Given the description of an element on the screen output the (x, y) to click on. 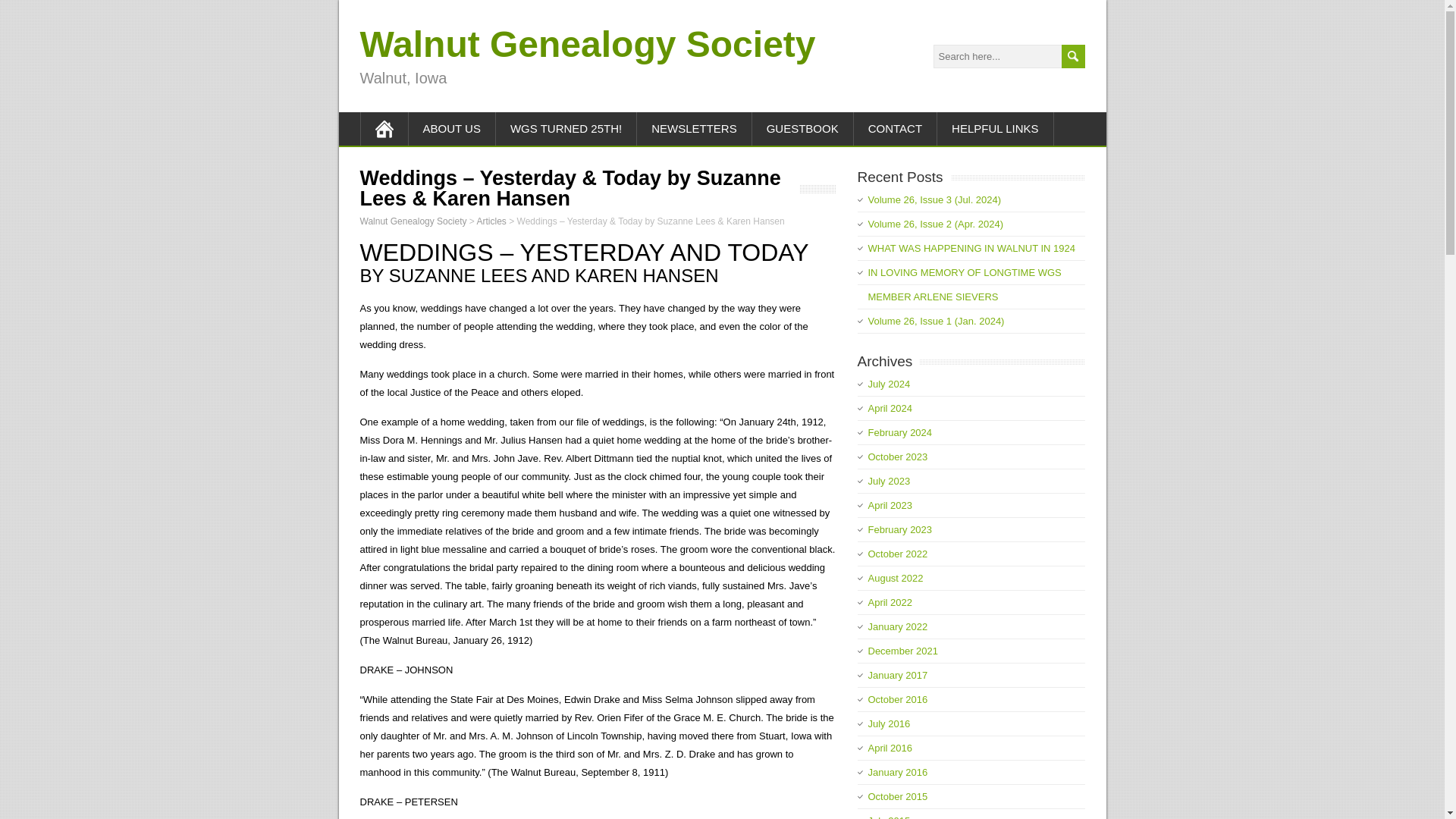
July 2016 (888, 723)
January 2017 (897, 674)
NEWSLETTERS (694, 128)
July 2024 (888, 383)
Walnut Genealogy Society (412, 221)
Walnut Genealogy Society (587, 44)
IN LOVING MEMORY OF LONGTIME WGS MEMBER ARLENE SIEVERS (964, 284)
October 2016 (897, 699)
July 2023 (888, 480)
July 2015 (888, 816)
